Given the description of an element on the screen output the (x, y) to click on. 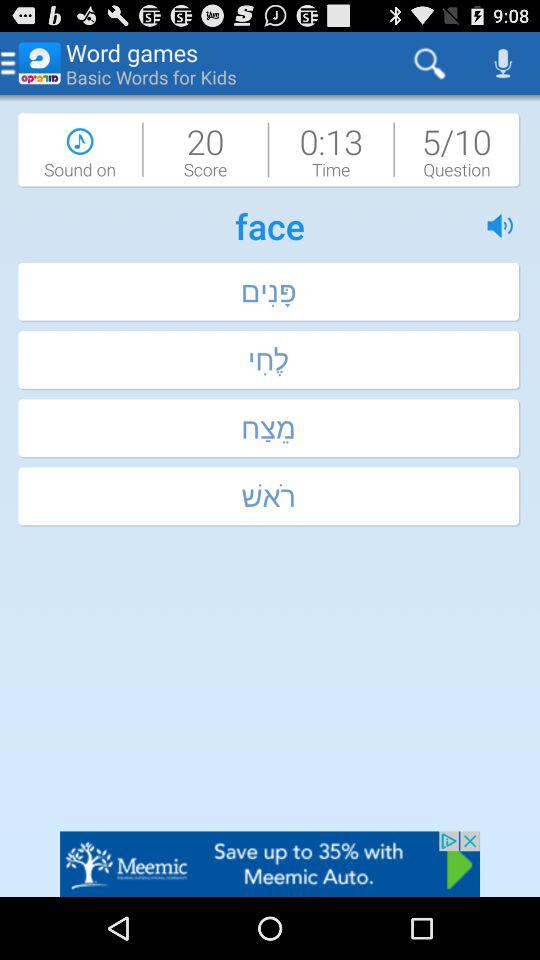
potential advertisement (270, 864)
